Given the description of an element on the screen output the (x, y) to click on. 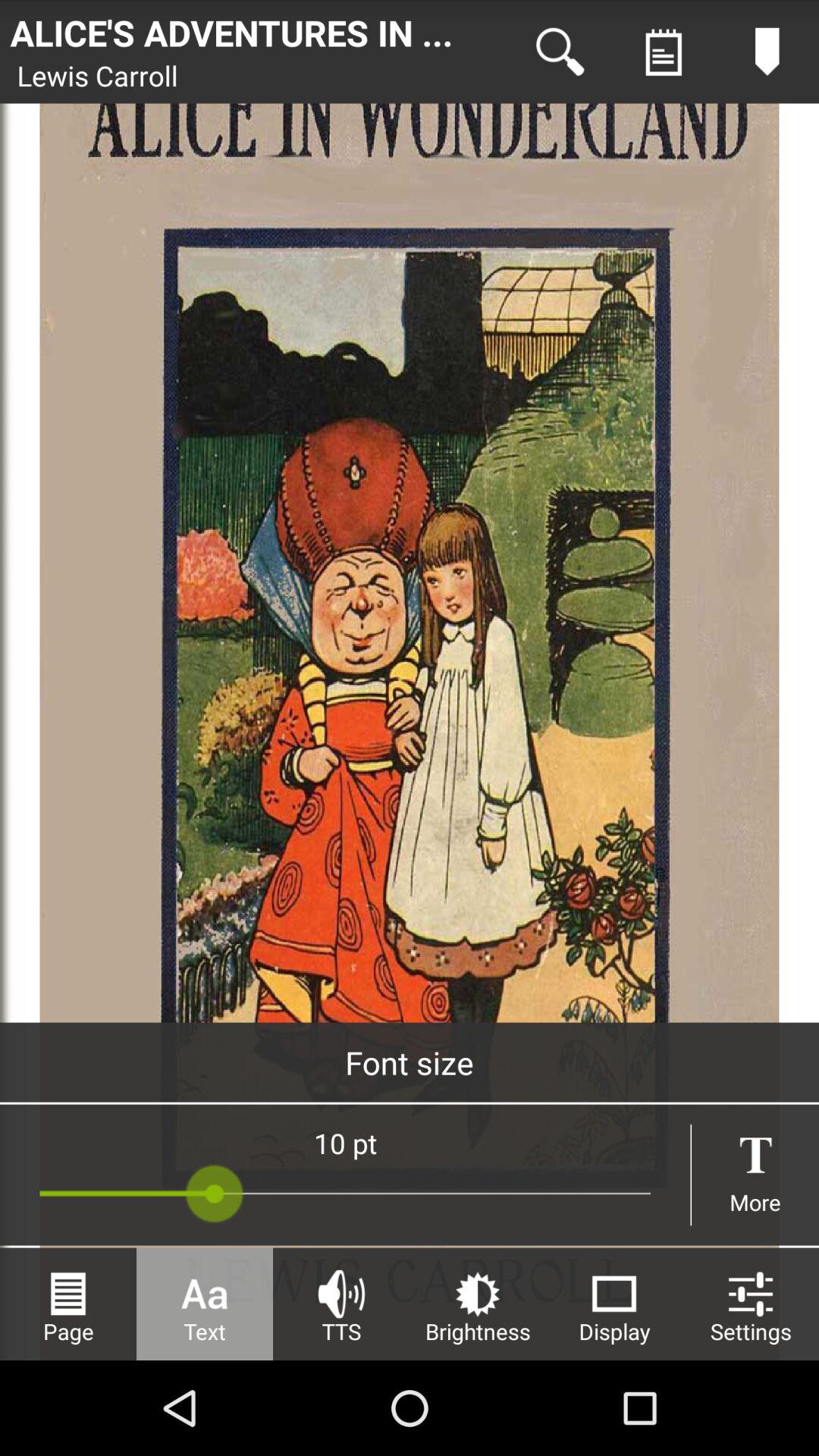
go to search option (559, 51)
